Given the description of an element on the screen output the (x, y) to click on. 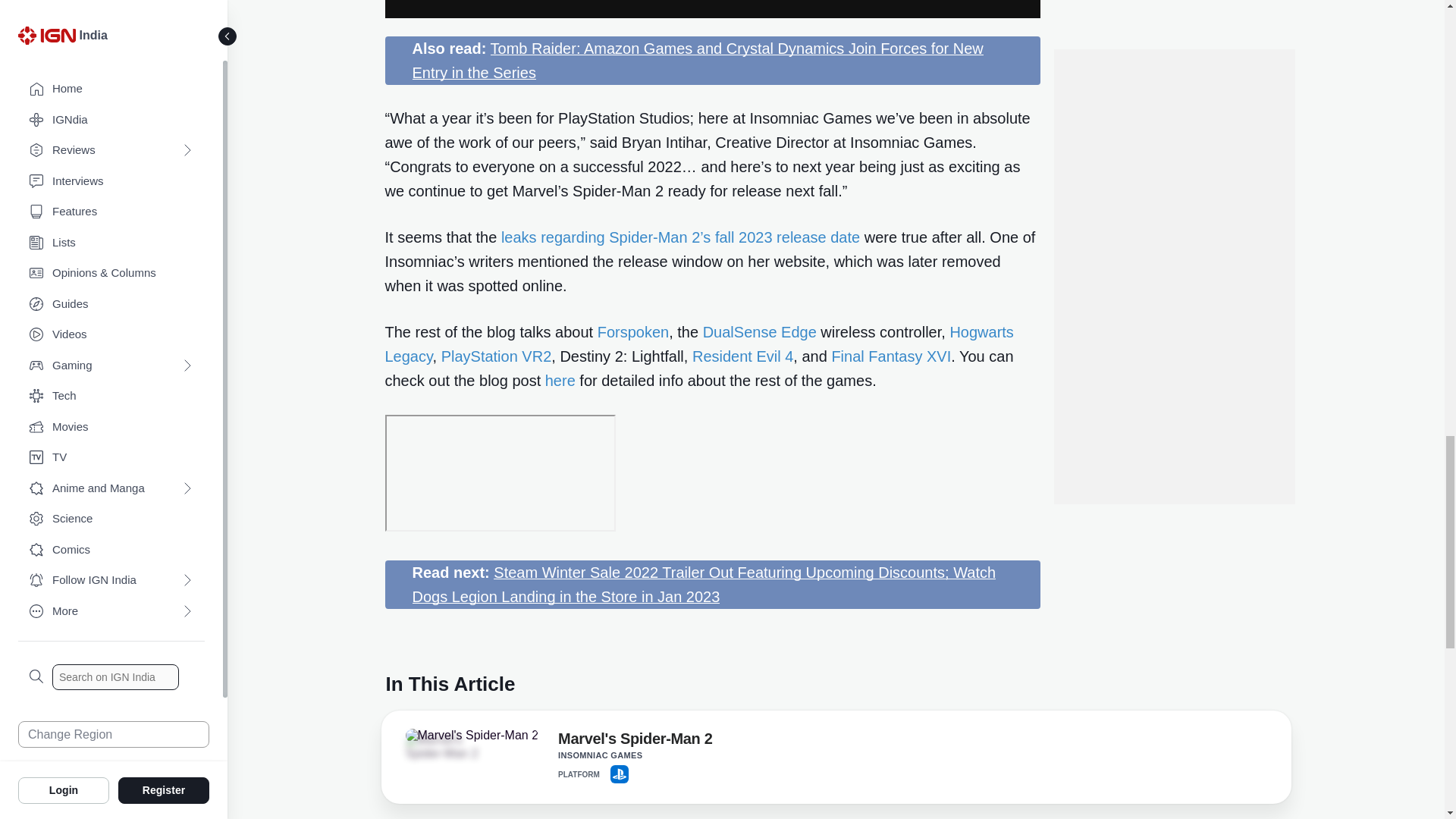
Marvel's Spider-Man 2 (471, 735)
Marvel's Spider-Man 2 (634, 741)
Marvel's Spider-Man 2 (448, 746)
